Given the description of an element on the screen output the (x, y) to click on. 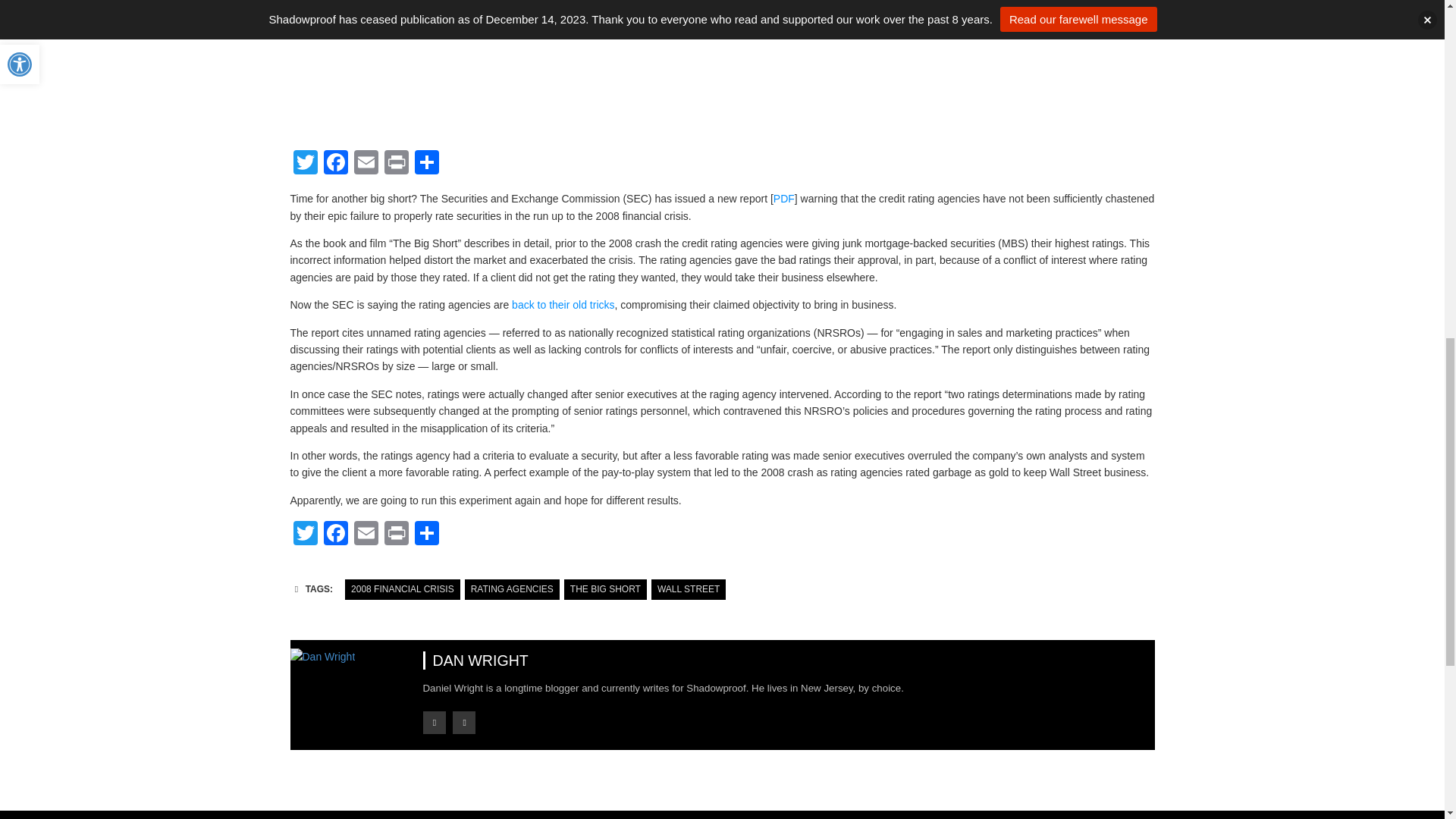
Twitter (304, 163)
Facebook (335, 163)
Twitter (304, 534)
Print (395, 163)
Email (365, 163)
